Given the description of an element on the screen output the (x, y) to click on. 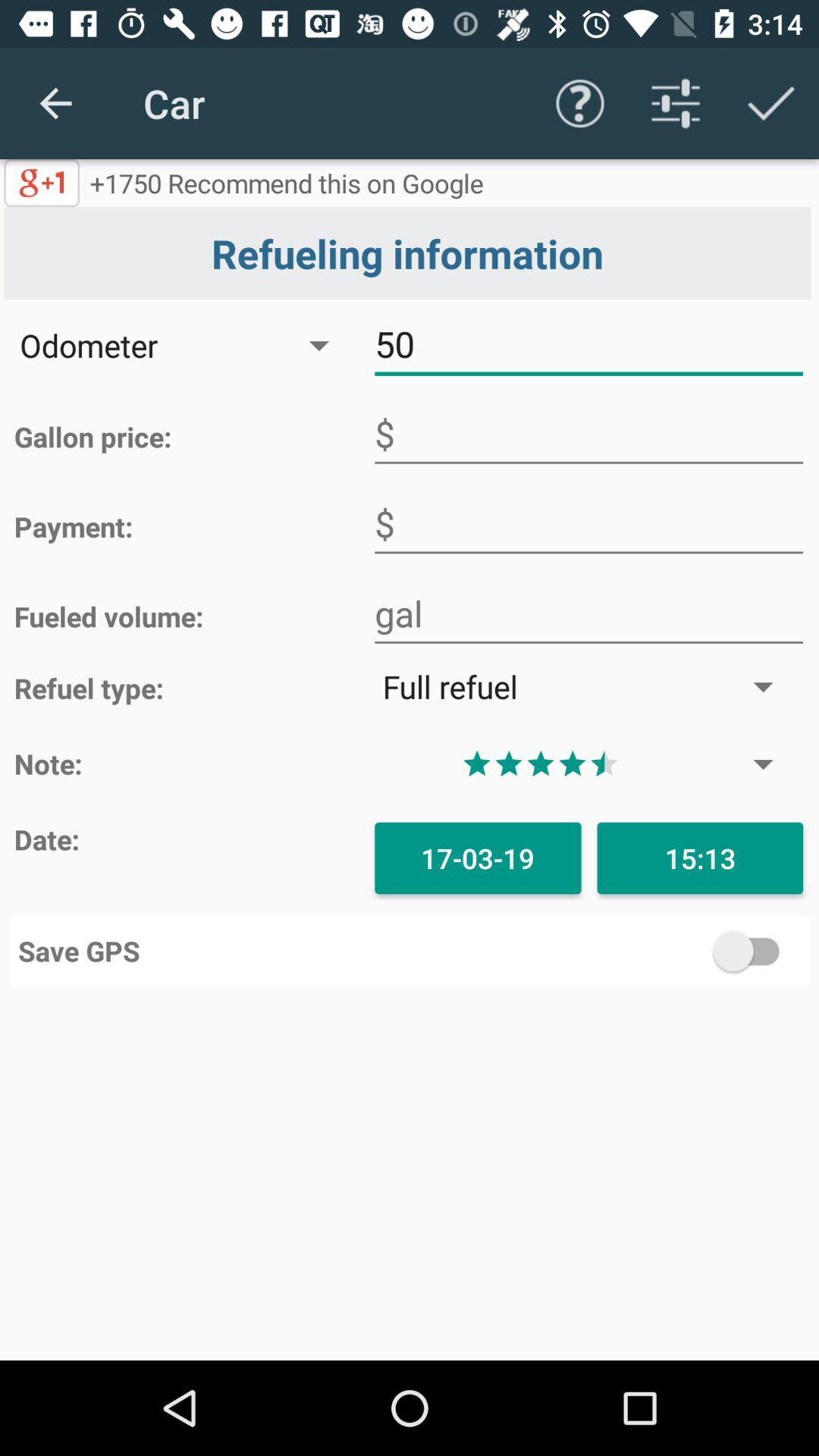
payment space (588, 524)
